Given the description of an element on the screen output the (x, y) to click on. 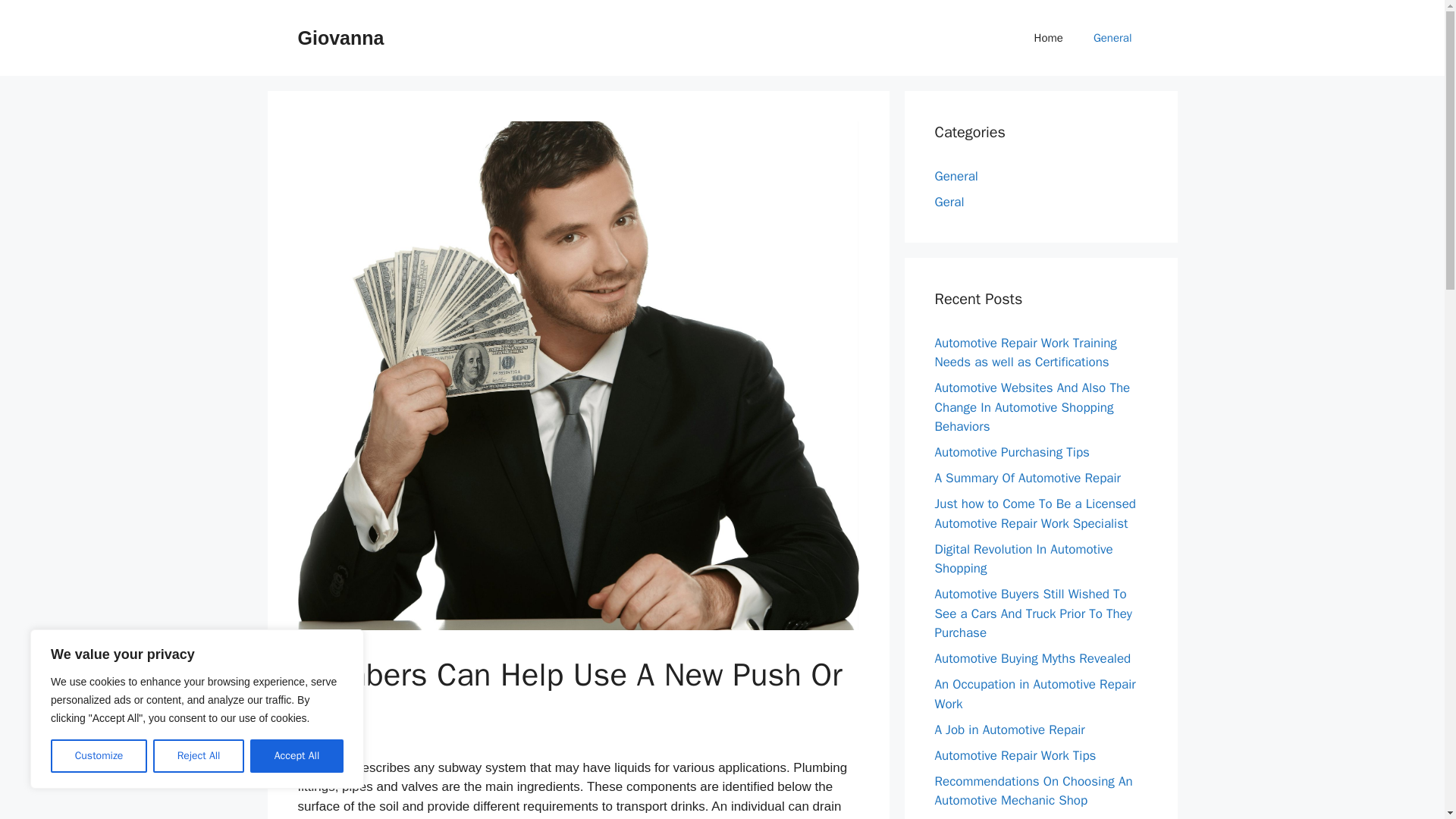
Accept All (296, 756)
A Summary Of Automotive Repair (1027, 478)
General (1112, 37)
Giovanna (340, 37)
Home (1048, 37)
Automotive Buying Myths Revealed (1032, 658)
Automotive Purchasing Tips (1011, 452)
Customize (98, 756)
